Given the description of an element on the screen output the (x, y) to click on. 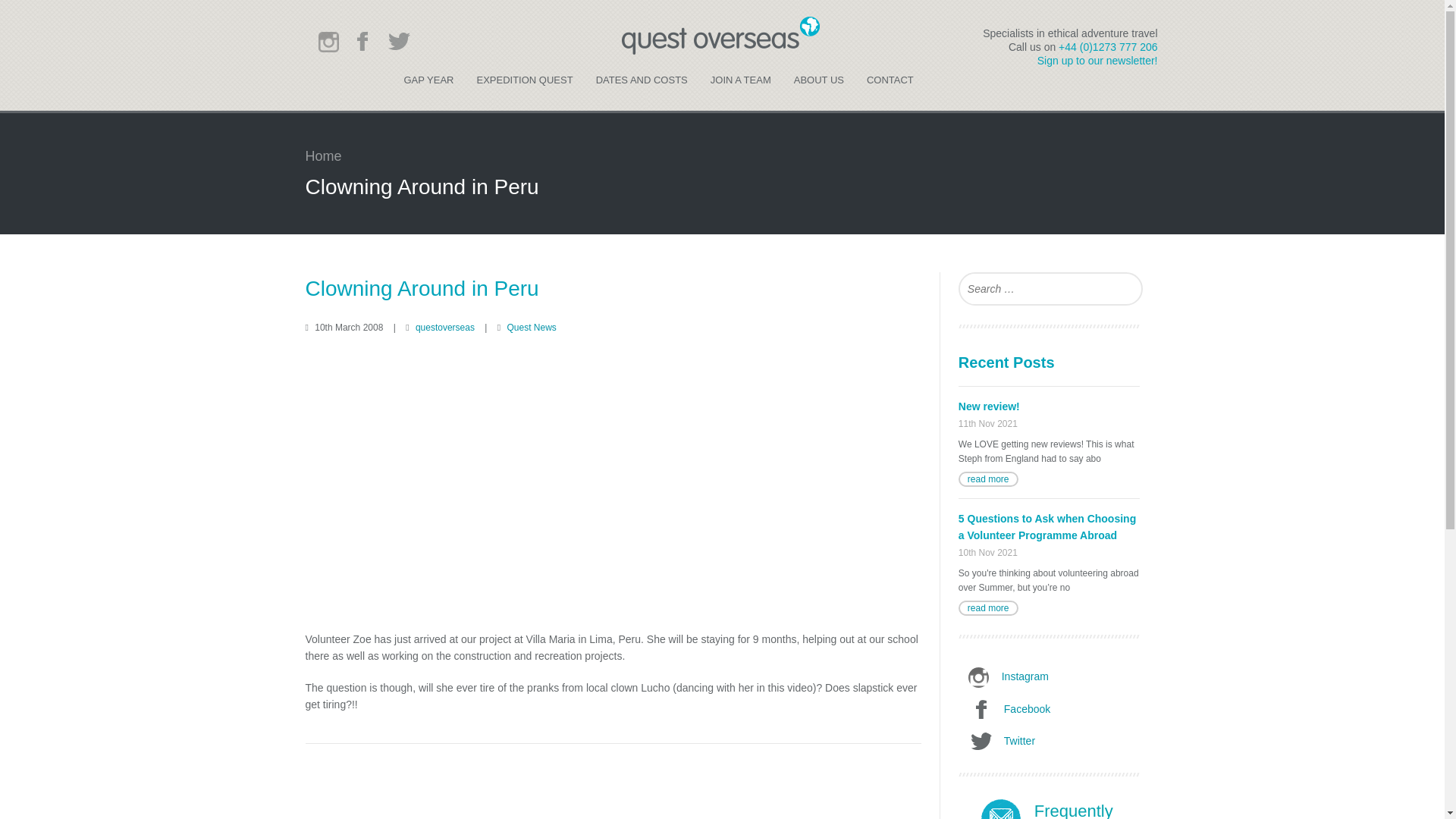
Quest Overseas (722, 52)
View all posts by questoverseas (1049, 414)
Search for: (444, 327)
GAP YEAR (1035, 288)
ABOUT US (429, 85)
Facebook (819, 85)
FAQ (1053, 709)
questoverseas (1078, 811)
Home (444, 327)
Twitter (322, 155)
read more (1053, 741)
Sign up to our newsletter! (987, 478)
read more (1096, 60)
CONTACT (987, 607)
